Given the description of an element on the screen output the (x, y) to click on. 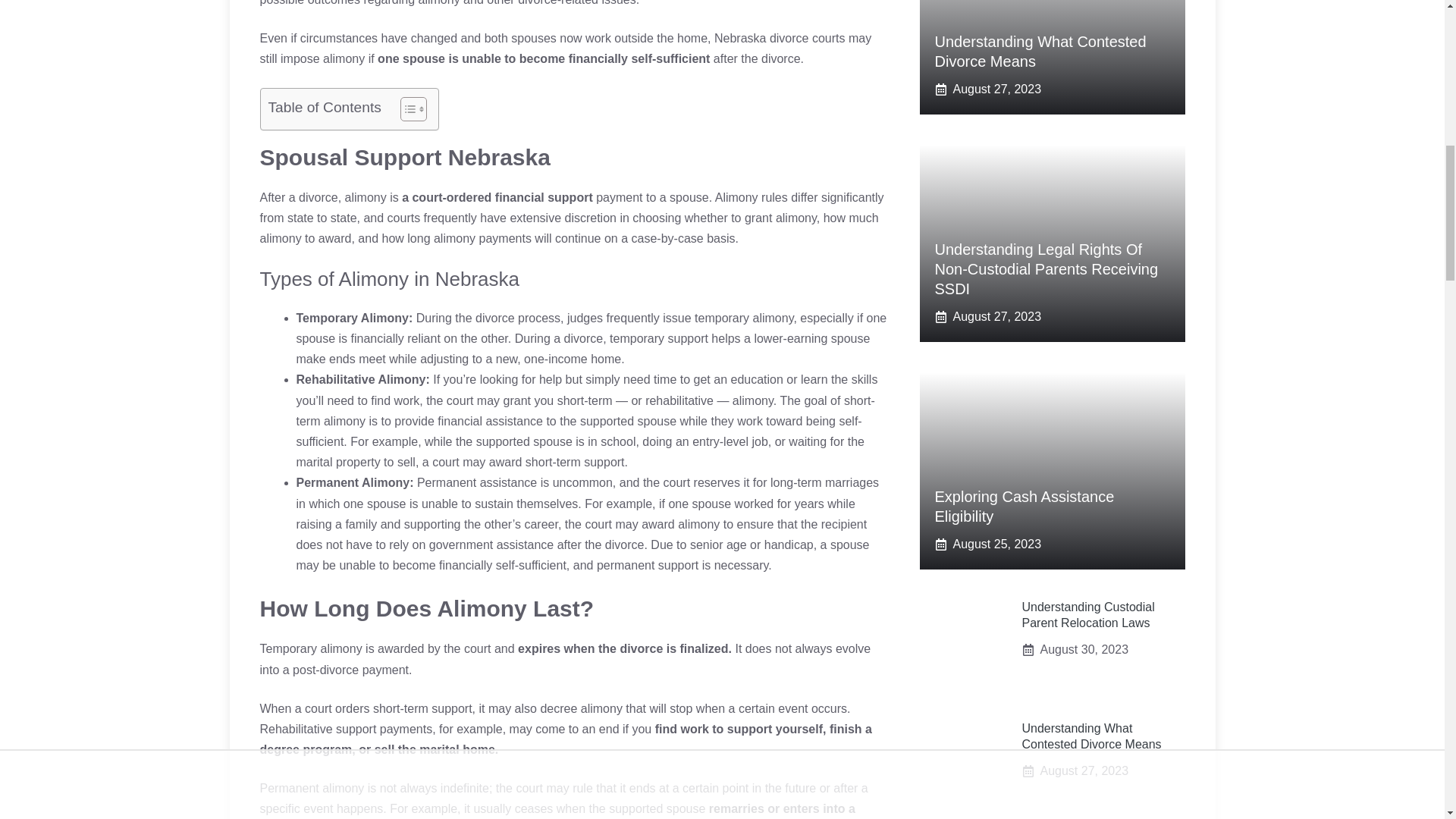
Exploring Cash Assistance Eligibility (1023, 506)
Understanding What Contested Divorce Means (1039, 51)
